Given the description of an element on the screen output the (x, y) to click on. 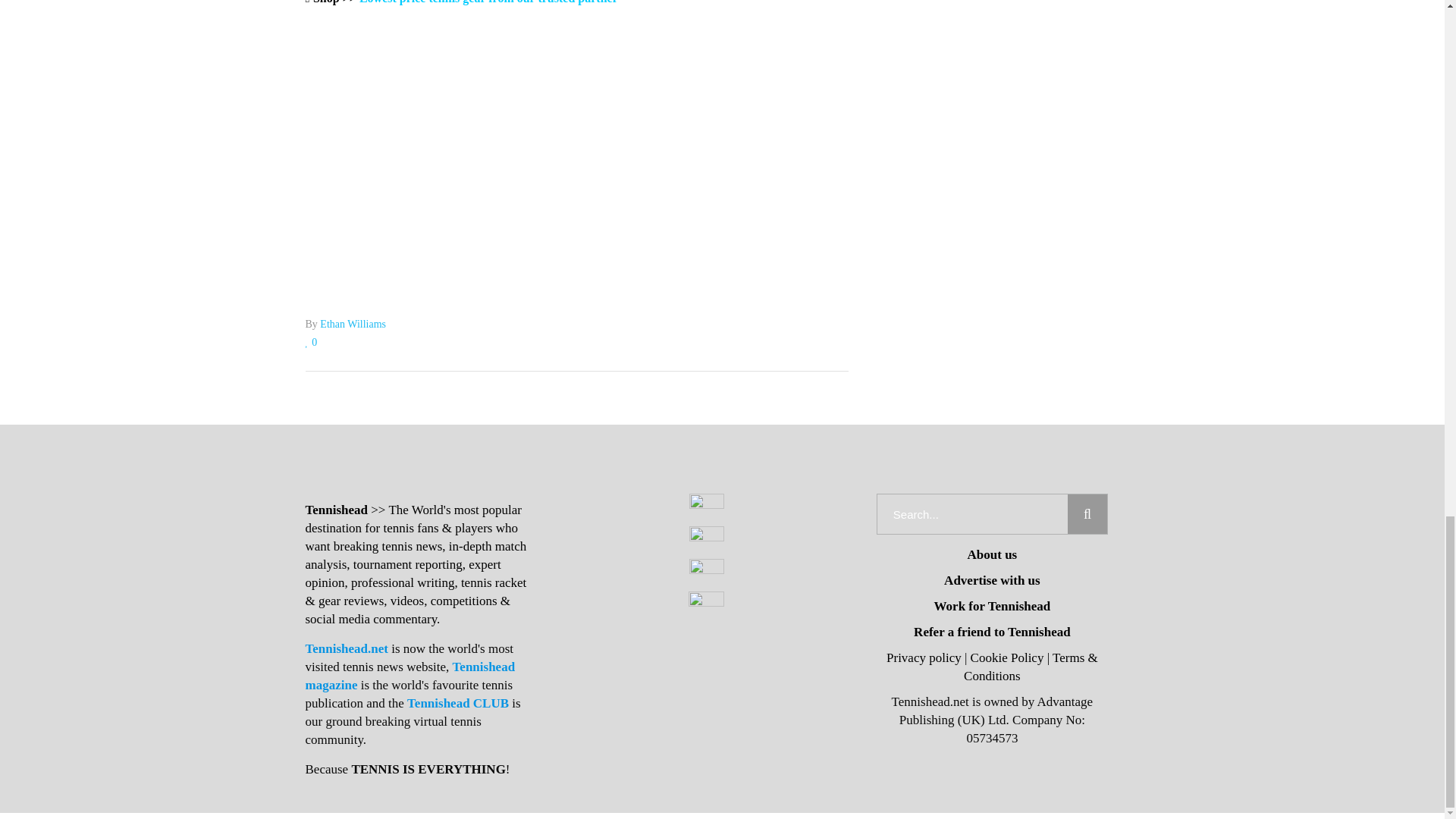
TNNS Live Scores (576, 193)
Search for: (972, 513)
Like this (310, 342)
